Given the description of an element on the screen output the (x, y) to click on. 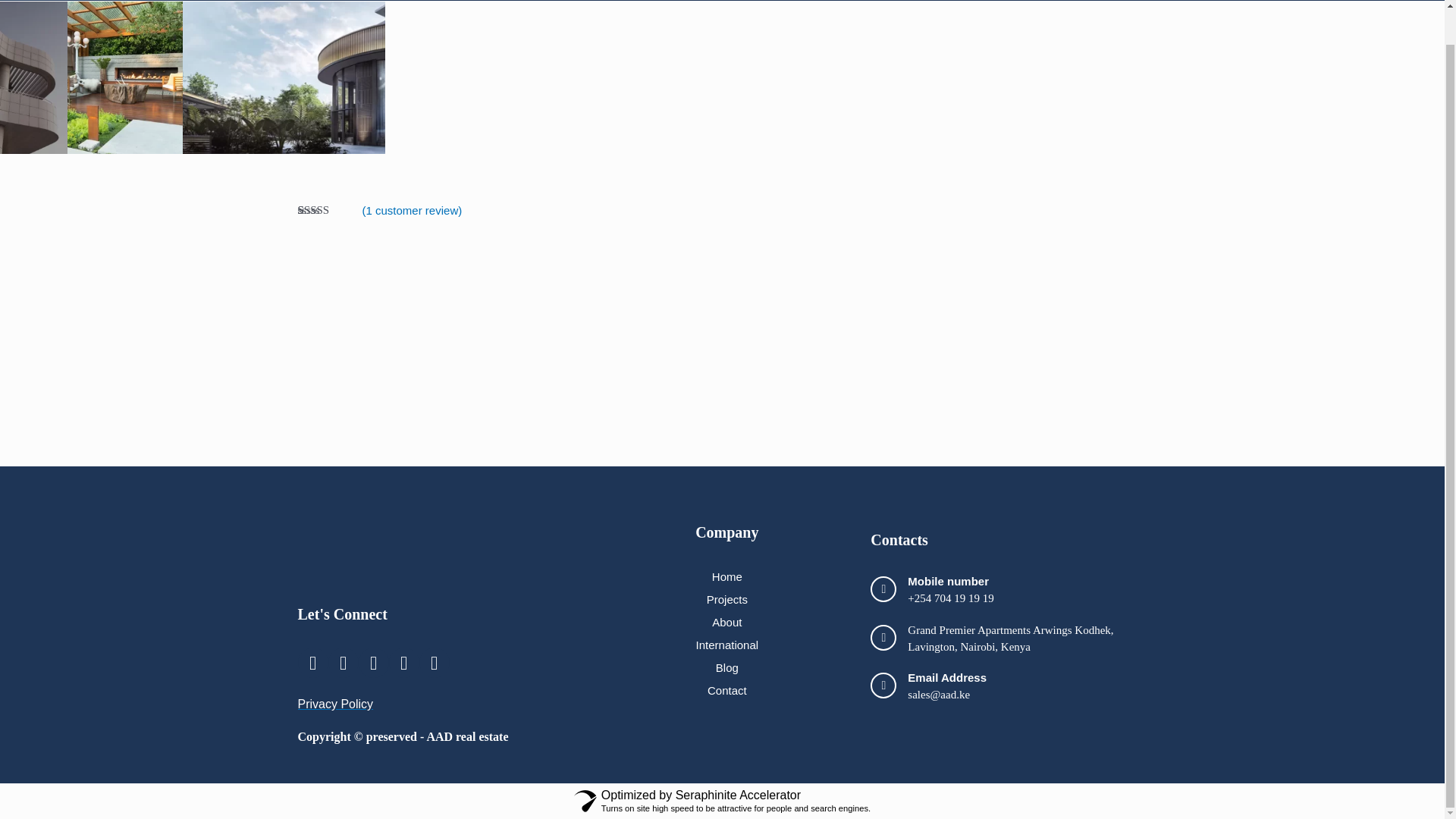
Contact (727, 689)
International (727, 644)
Blog (727, 667)
About (727, 621)
Home (727, 576)
Projects (727, 599)
Privacy Policy (334, 703)
